Given the description of an element on the screen output the (x, y) to click on. 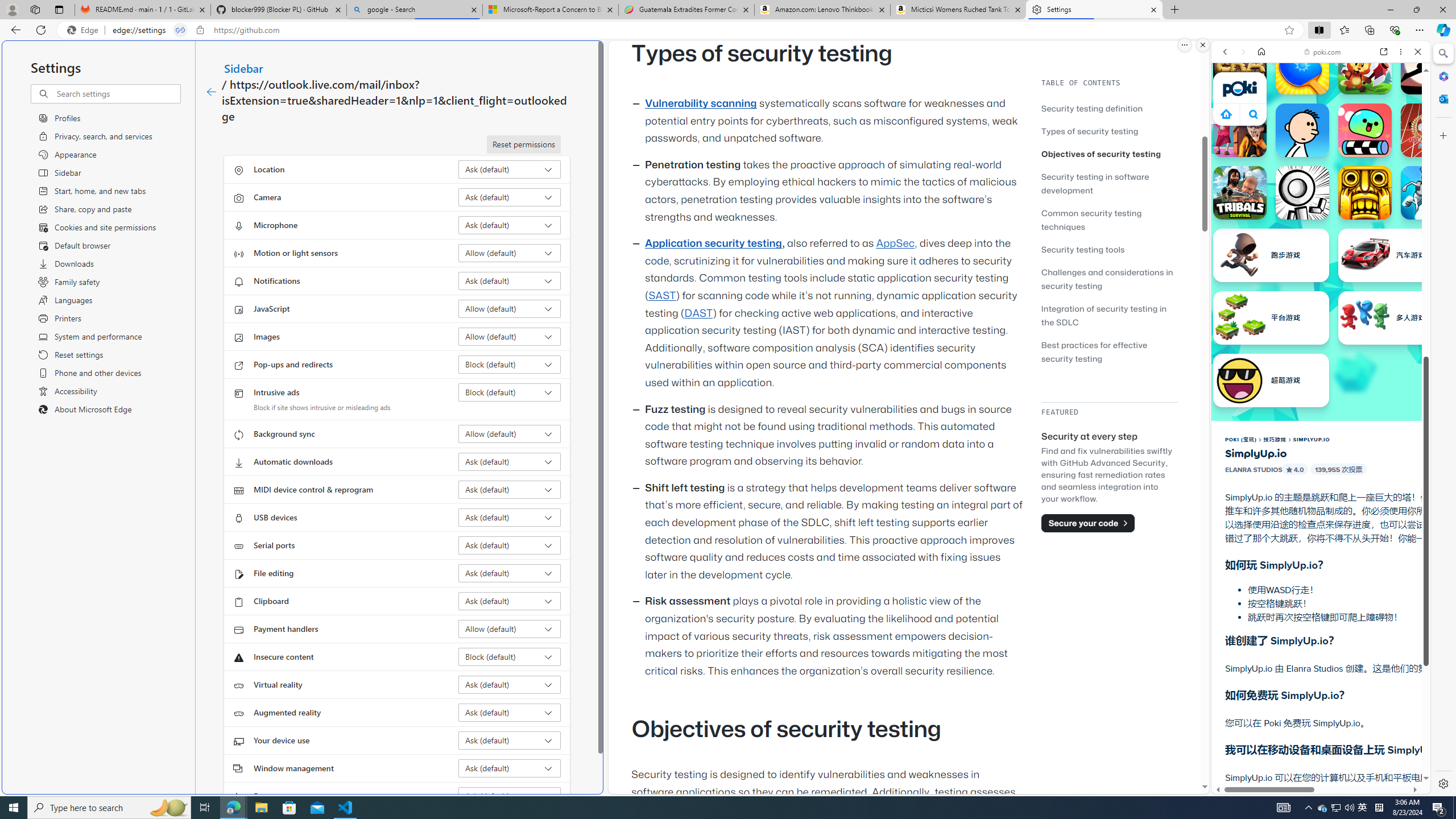
Search settings (117, 93)
Reset permissions (523, 144)
Poki - Free Online Games - Play Now! (1315, 175)
The Speed Ninja (1427, 67)
OvO Classic OvO Classic (1302, 192)
Era: Evolution Era: Evolution (1239, 67)
Tribals.io Tribals.io (1239, 192)
Io Games (1320, 350)
Types of security testing (1109, 130)
